Given the description of an element on the screen output the (x, y) to click on. 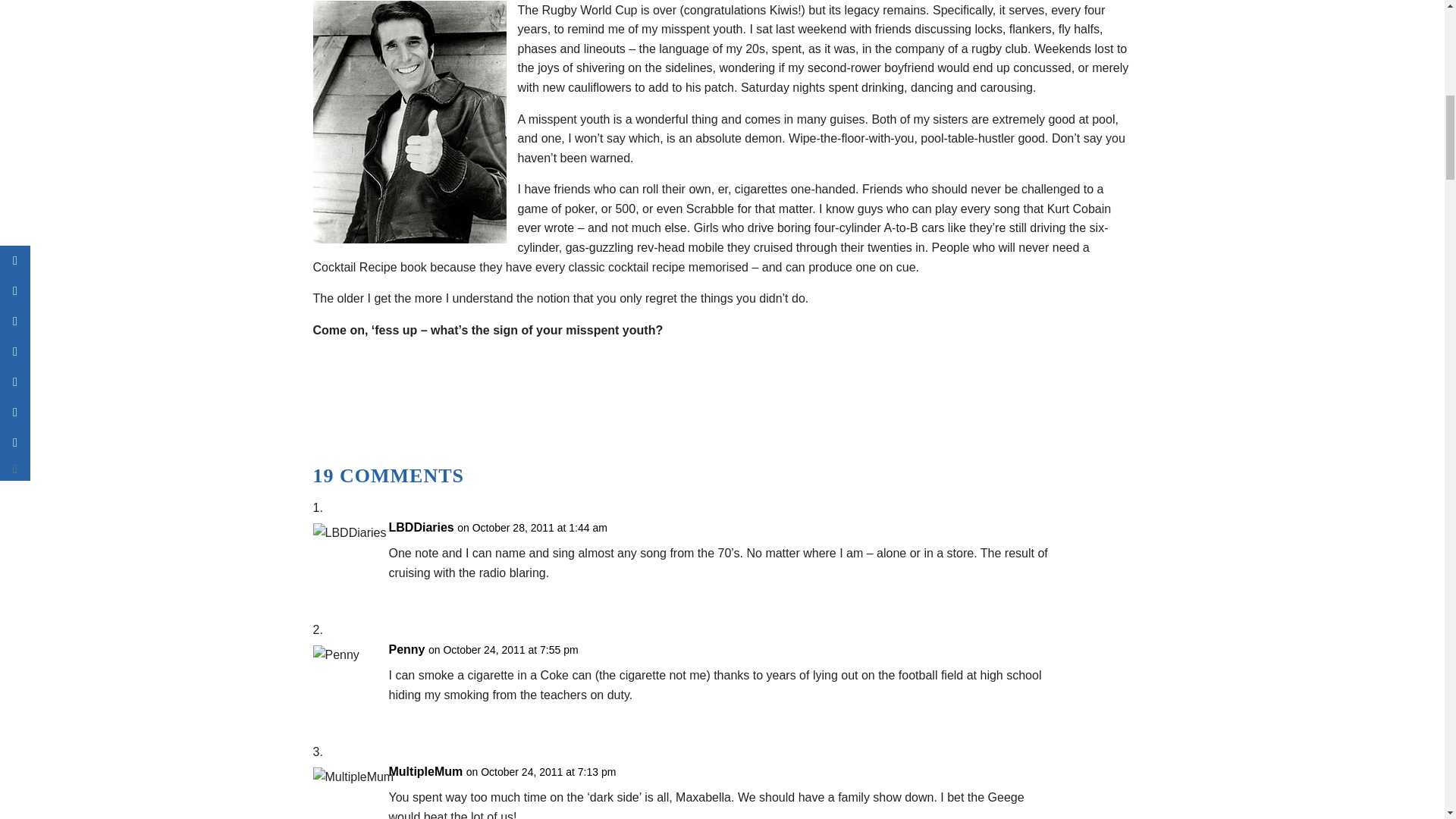
MultipleMum (425, 772)
Penny (406, 649)
LBDDiaries (420, 527)
